Given the description of an element on the screen output the (x, y) to click on. 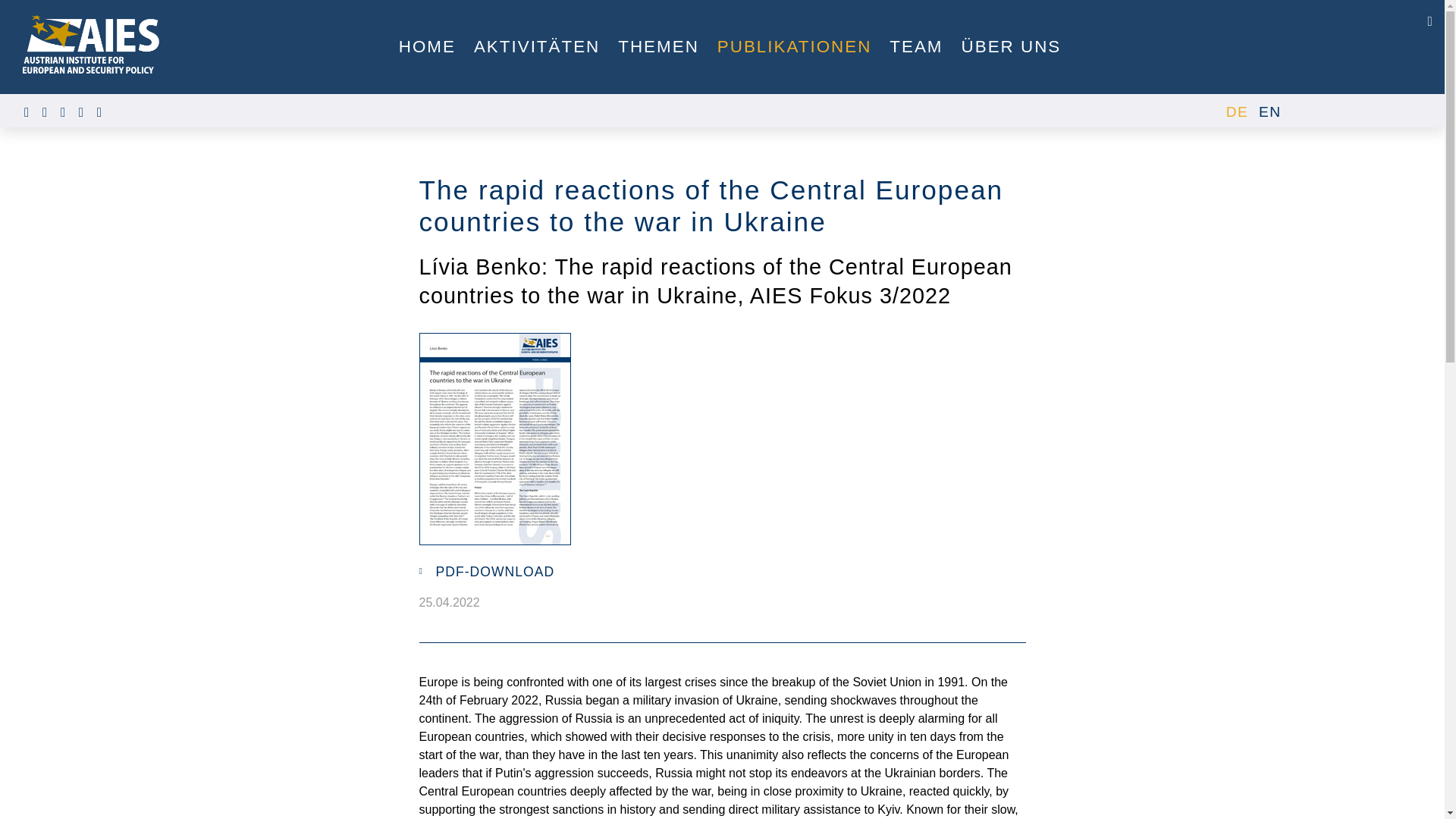
HOME (427, 46)
PUBLIKATIONEN (793, 46)
TEAM (916, 46)
EN (1270, 111)
AIES Wien (90, 44)
PDF-DOWNLOAD (494, 571)
THEMEN (657, 46)
